Given the description of an element on the screen output the (x, y) to click on. 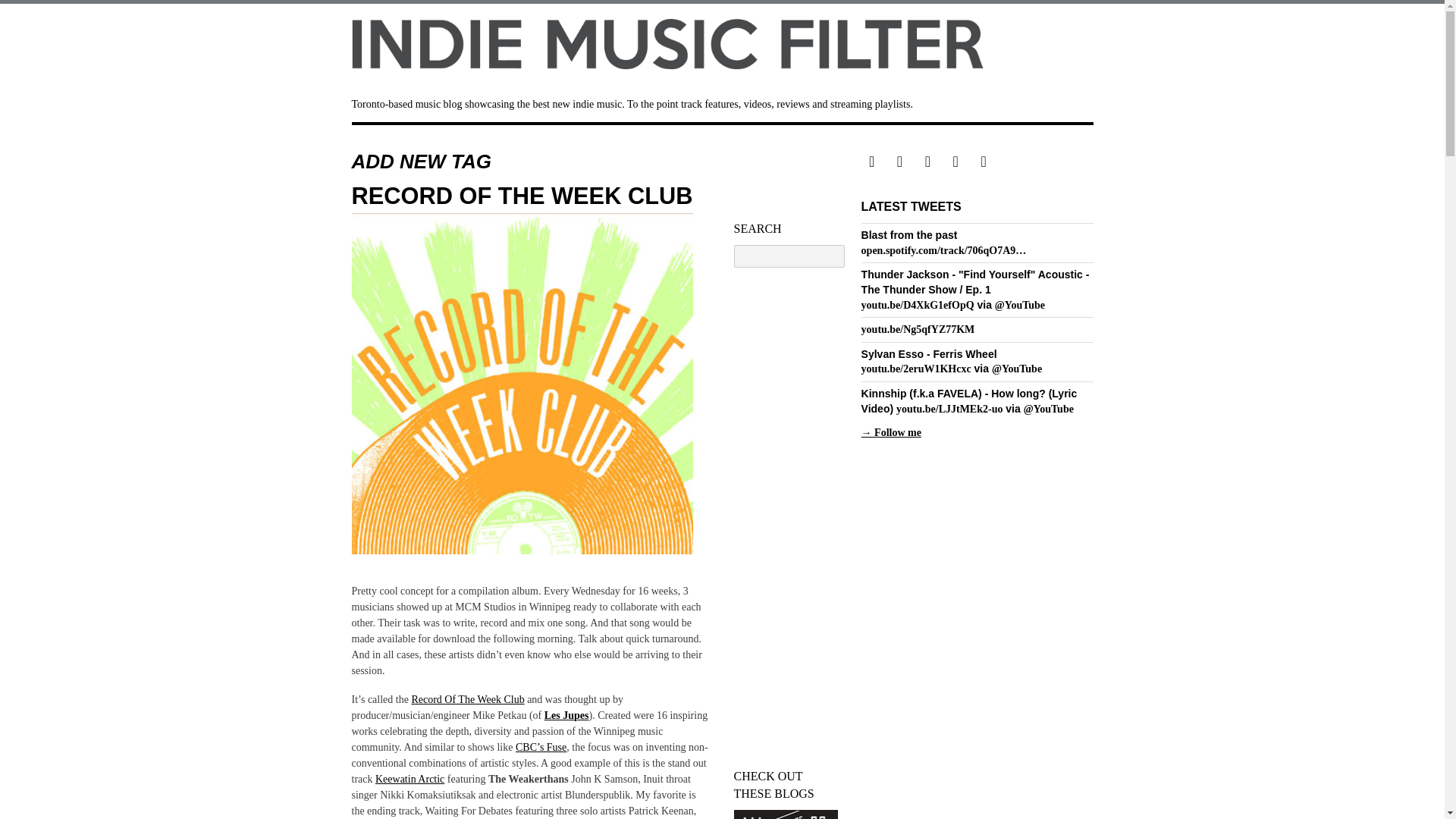
Keewatin Arctic (409, 778)
YouTube (1019, 305)
Les Jupes (566, 715)
Download (409, 778)
YouTube (1016, 368)
Record Of The Week Club (522, 383)
Indie Music Filter (722, 44)
RECORD OF THE WEEK CLUB (522, 195)
Indie Music Filter (722, 46)
Record Of The Week Club (467, 699)
